Given the description of an element on the screen output the (x, y) to click on. 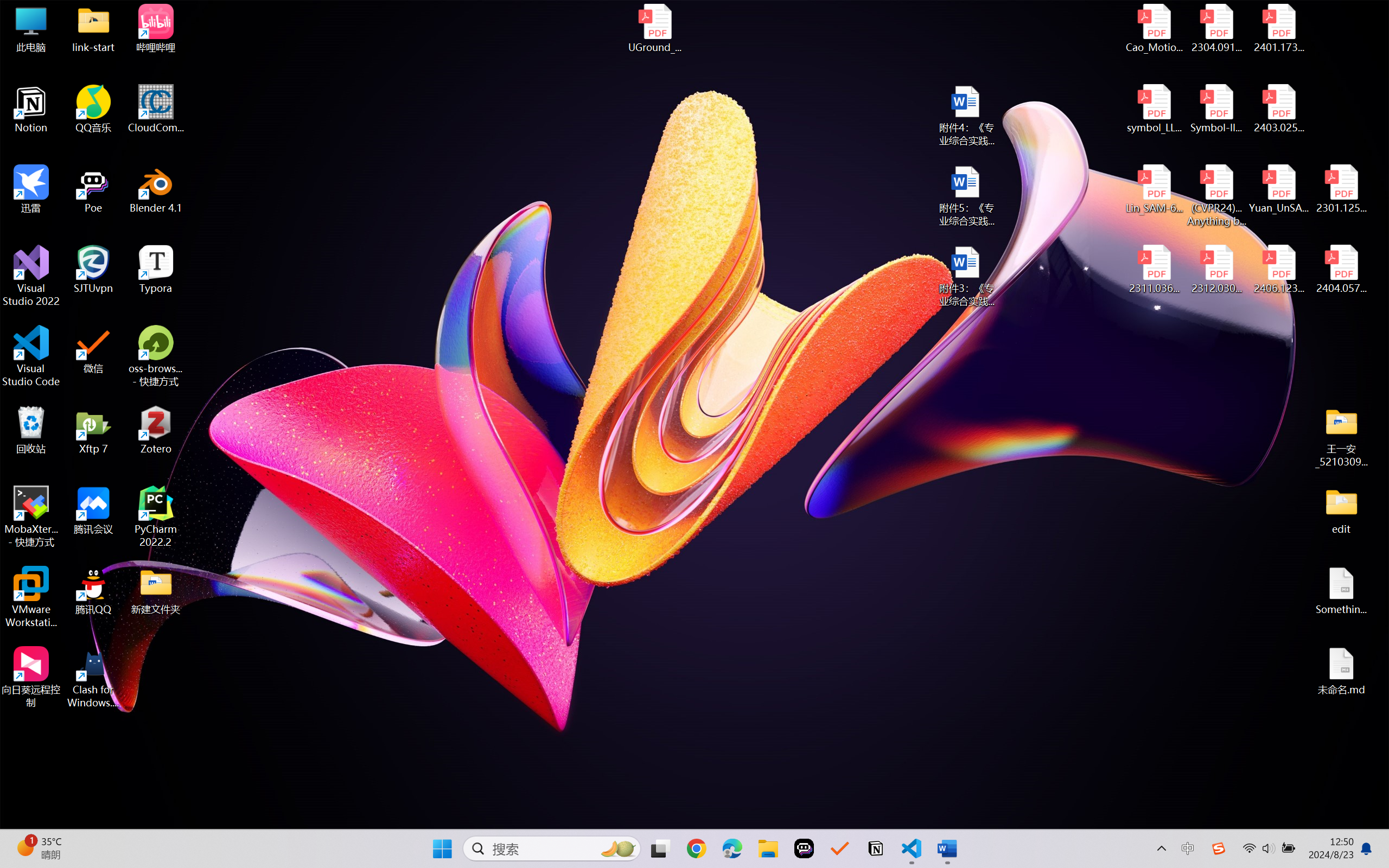
2304.09121v3.pdf (1216, 28)
Visual Studio Code (31, 355)
Visual Studio 2022 (31, 276)
